Given the description of an element on the screen output the (x, y) to click on. 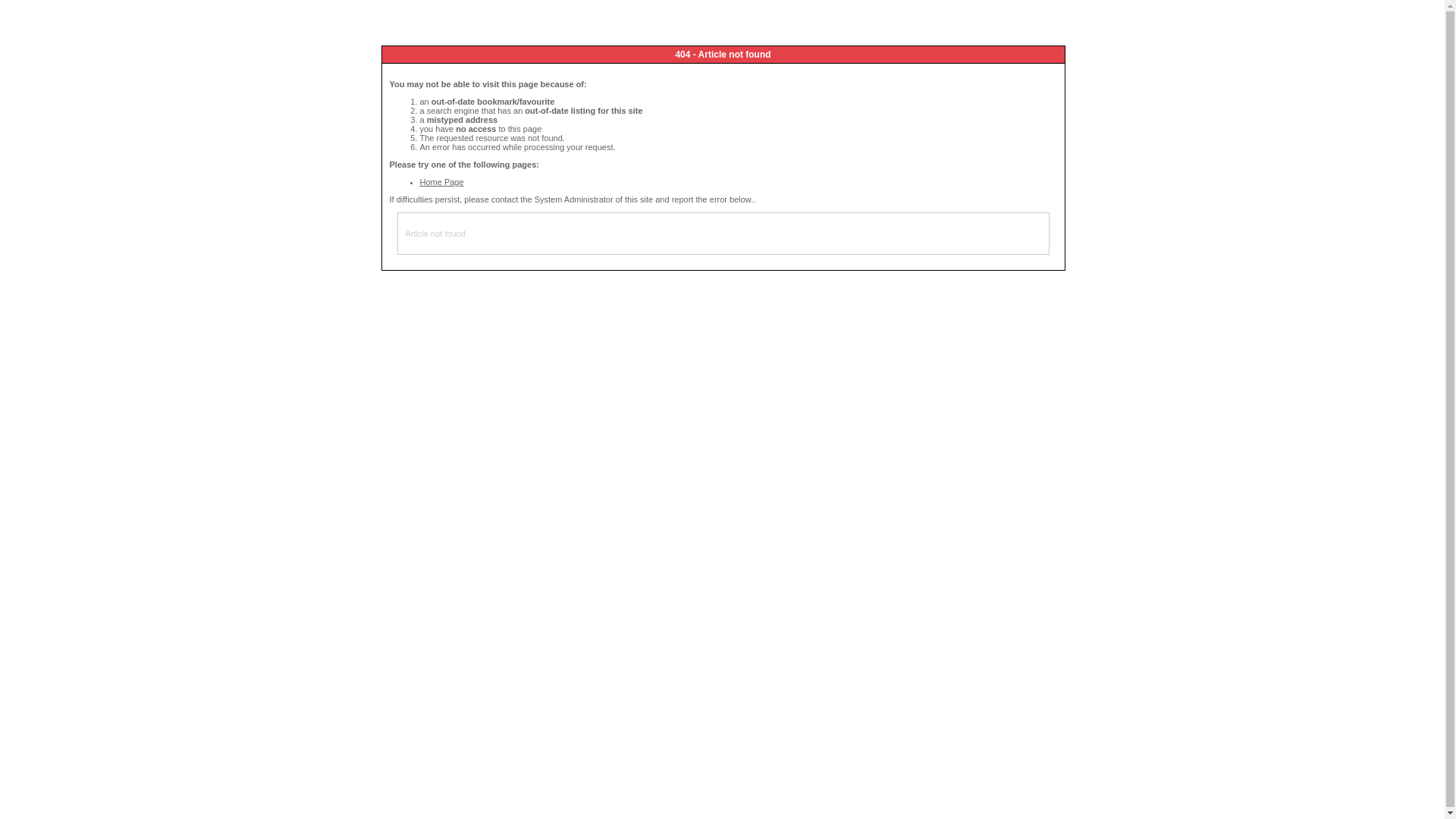
Home Page Element type: text (442, 181)
